Given the description of an element on the screen output the (x, y) to click on. 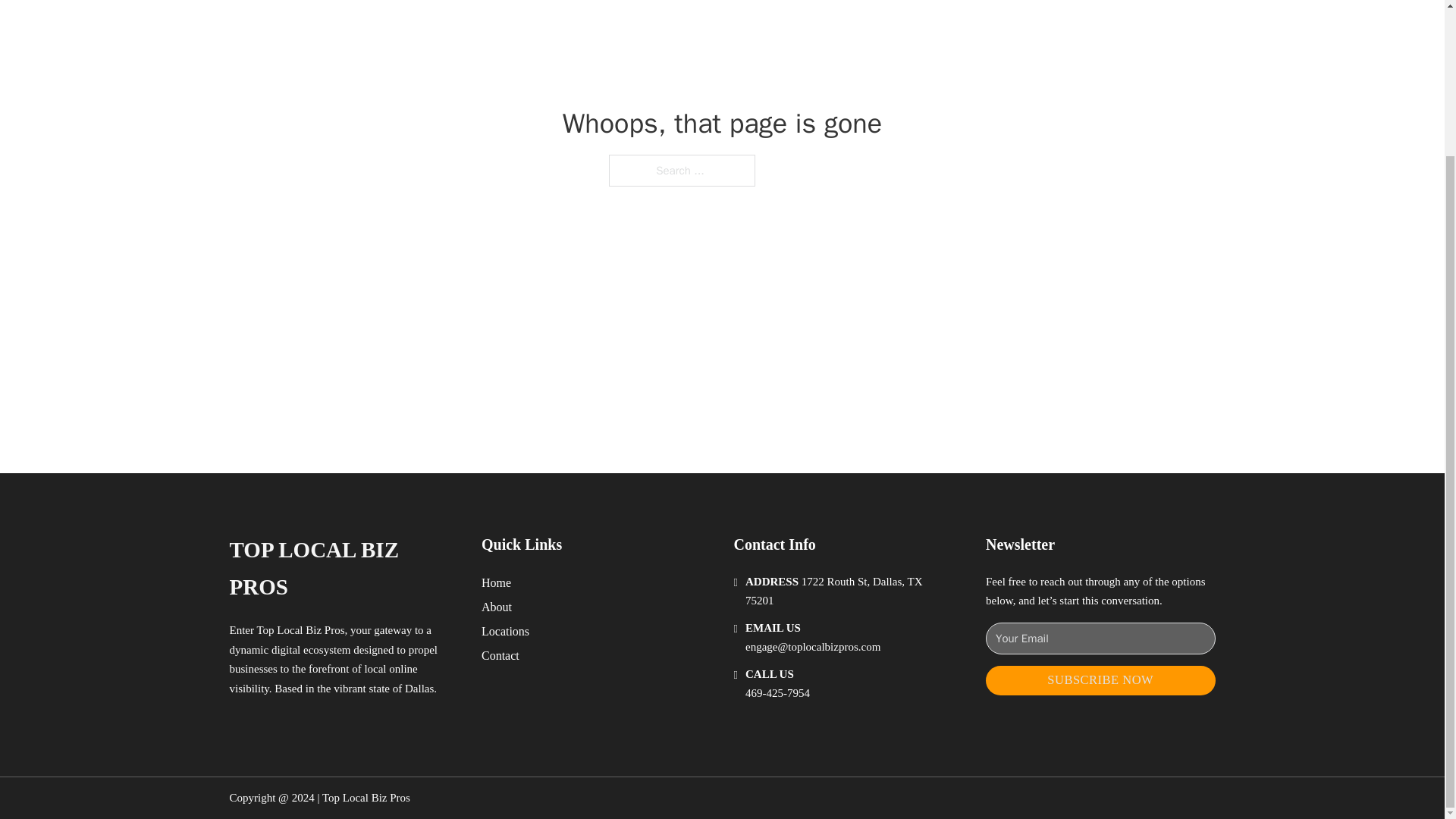
Contact (500, 655)
TOP LOCAL BIZ PROS (343, 568)
469-425-7954 (777, 693)
Home (496, 582)
Locations (505, 630)
SUBSCRIBE NOW (1100, 680)
About (496, 607)
